Given the description of an element on the screen output the (x, y) to click on. 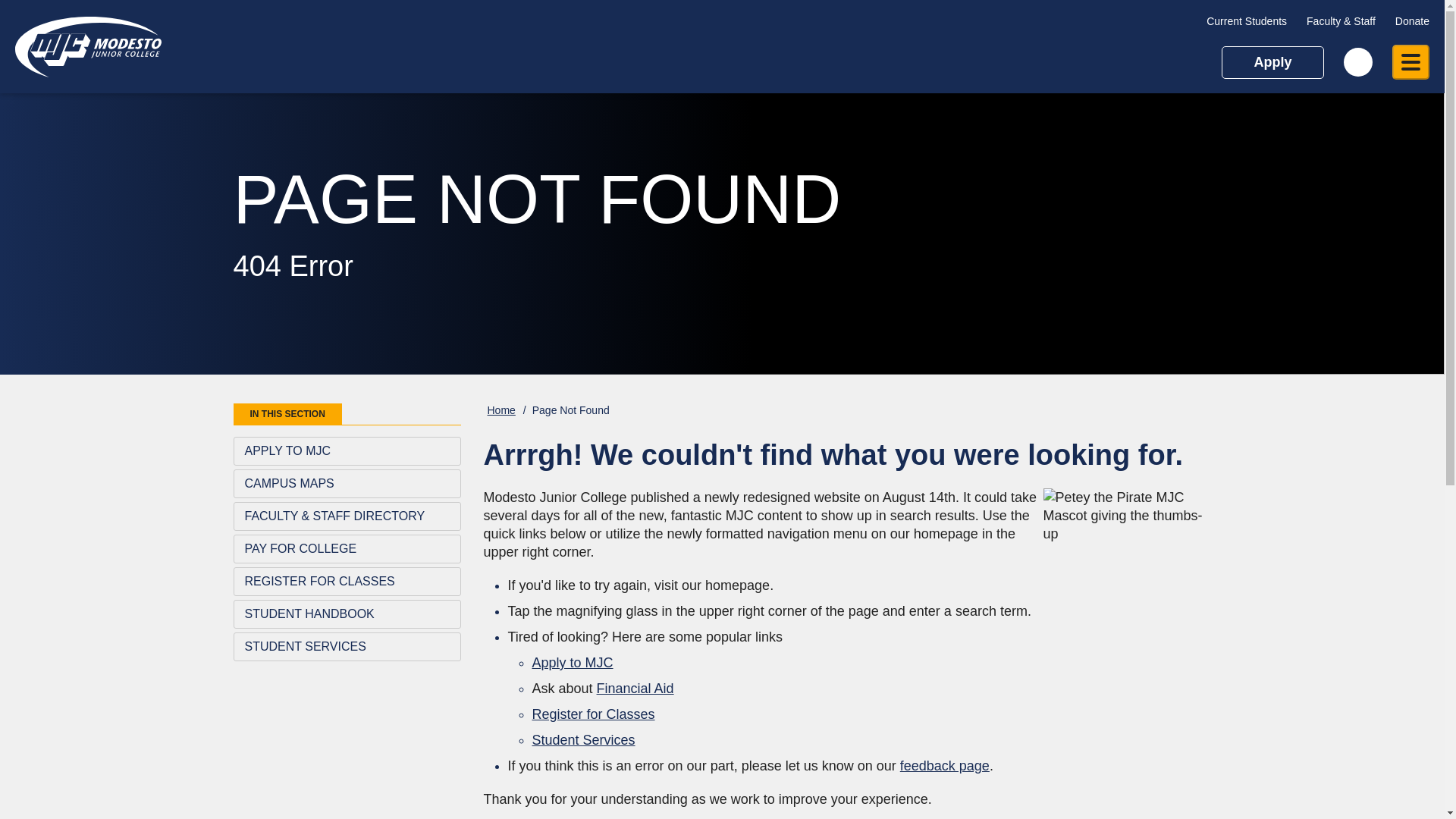
Donate (1411, 21)
Show Main Navigation Menu (1410, 62)
Search (1358, 61)
Apply (1272, 61)
Current Students (1247, 21)
